Given the description of an element on the screen output the (x, y) to click on. 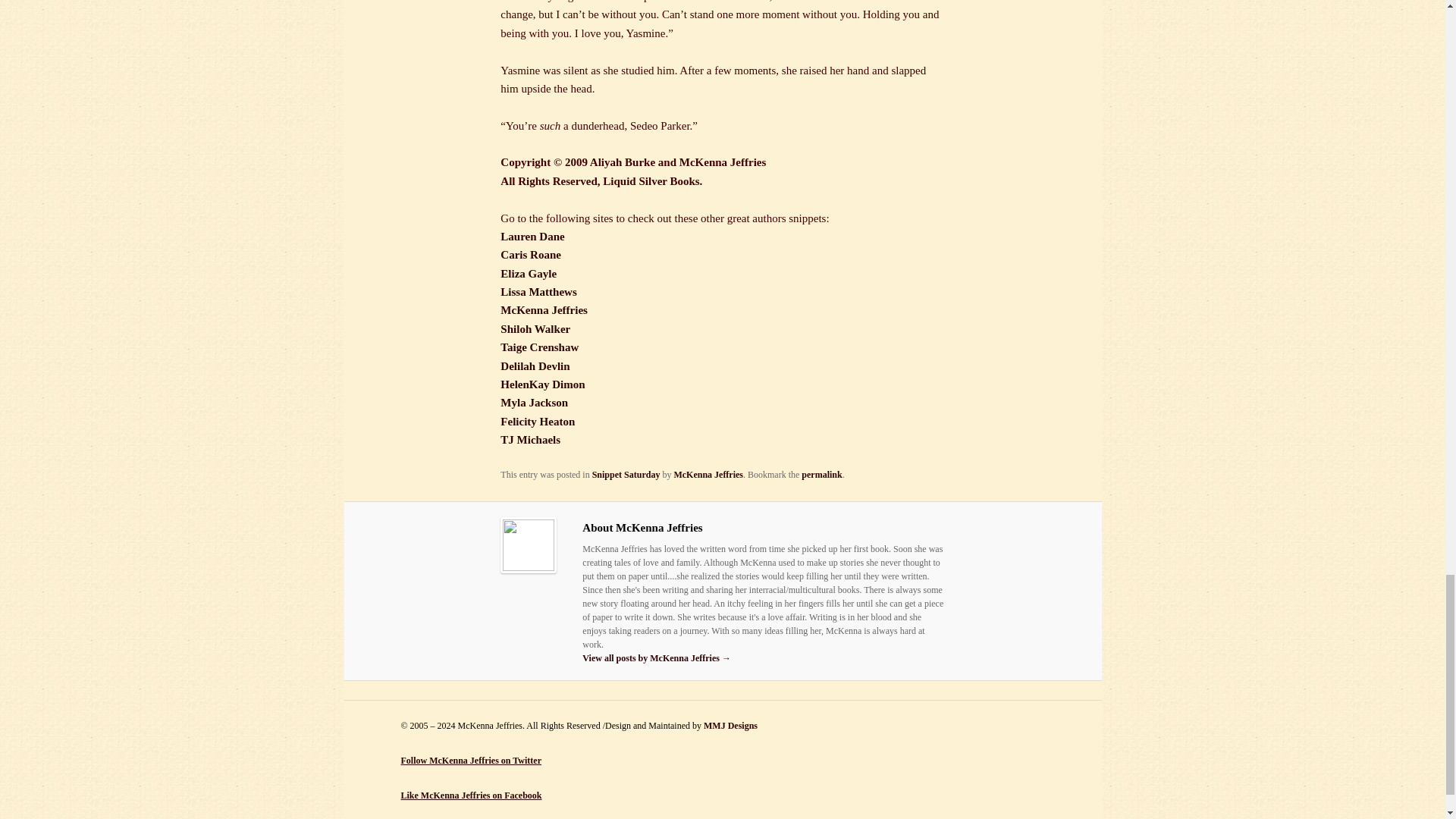
Delilah Devlin (534, 366)
McKenna Jeffries (544, 309)
Taige Crenshaw (539, 346)
Shiloh Walker (535, 328)
Caris Roane (530, 254)
Eliza Gayle (528, 273)
Snippet Saturday (626, 474)
McKenna Jeffries (707, 474)
Myla Jackson (533, 402)
Follow McKenna Jeffries on Twitter (470, 760)
MMJ Designs (730, 725)
Like McKenna Jeffries on Facebook (470, 795)
Felicity Heaton (537, 421)
MMJ Designs (730, 725)
TJ Michaels (530, 439)
